Given the description of an element on the screen output the (x, y) to click on. 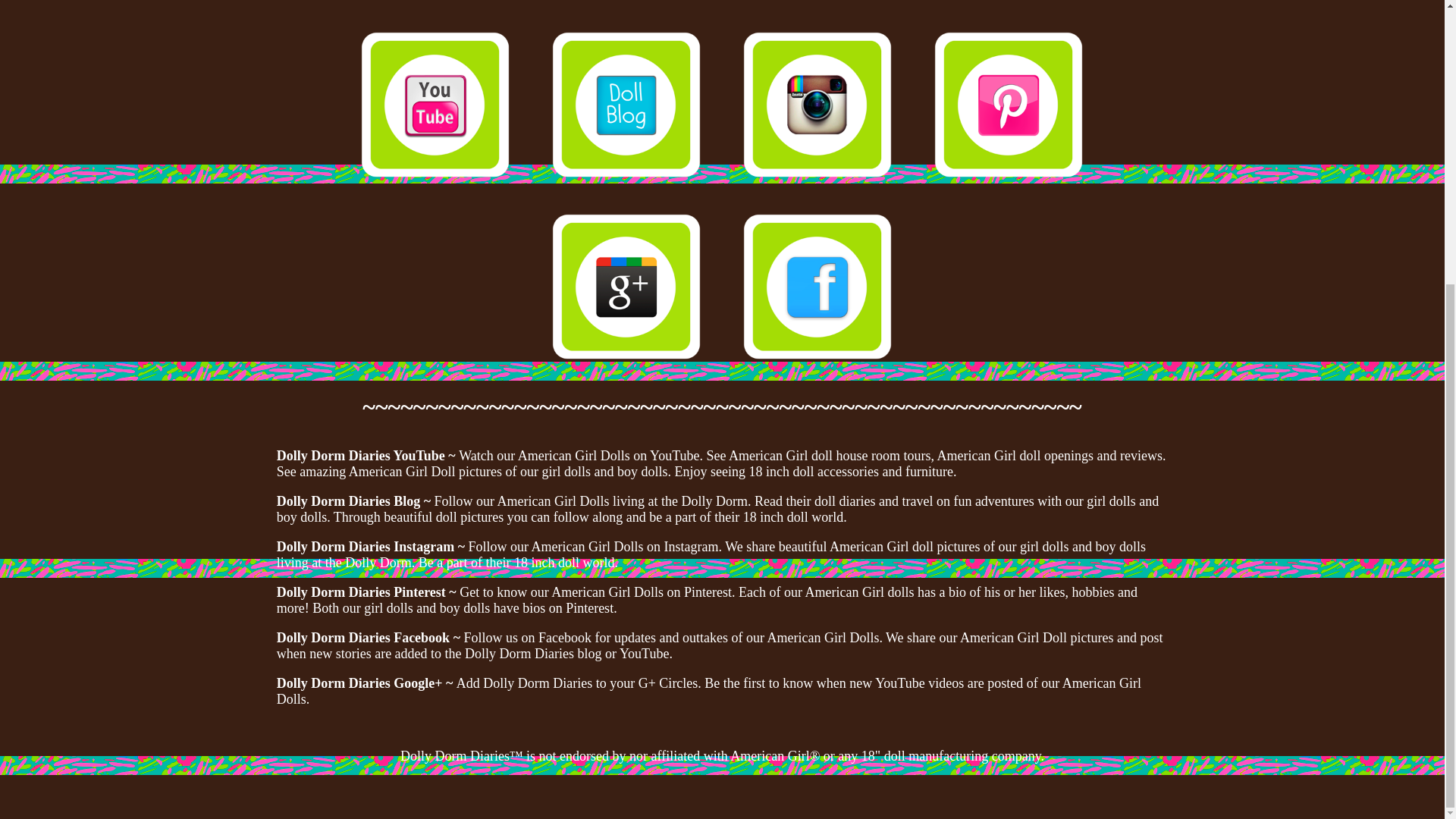
Follow Dolly Dorm Diaries on Pinterest (1008, 104)
Watch Dolly Dorm Diaries on YouTube (435, 104)
Follow Dolly Dorm Diaries on Facebook (817, 286)
Follow Dolly Dorm Diaries on Instagram (817, 104)
Follow Dolly Dorm Diaries Blog (625, 104)
